Given the description of an element on the screen output the (x, y) to click on. 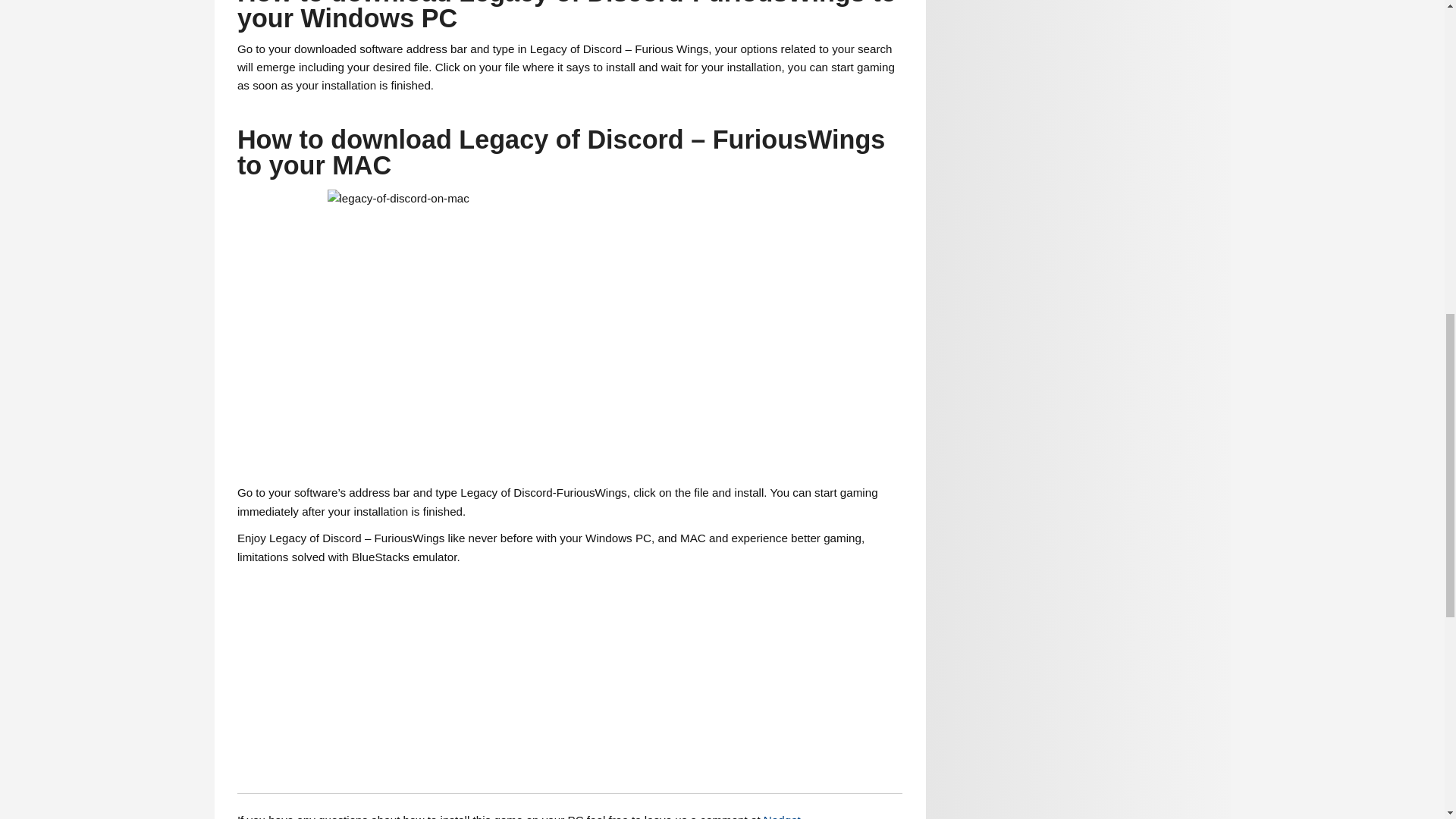
Nedget. (782, 816)
